Given the description of an element on the screen output the (x, y) to click on. 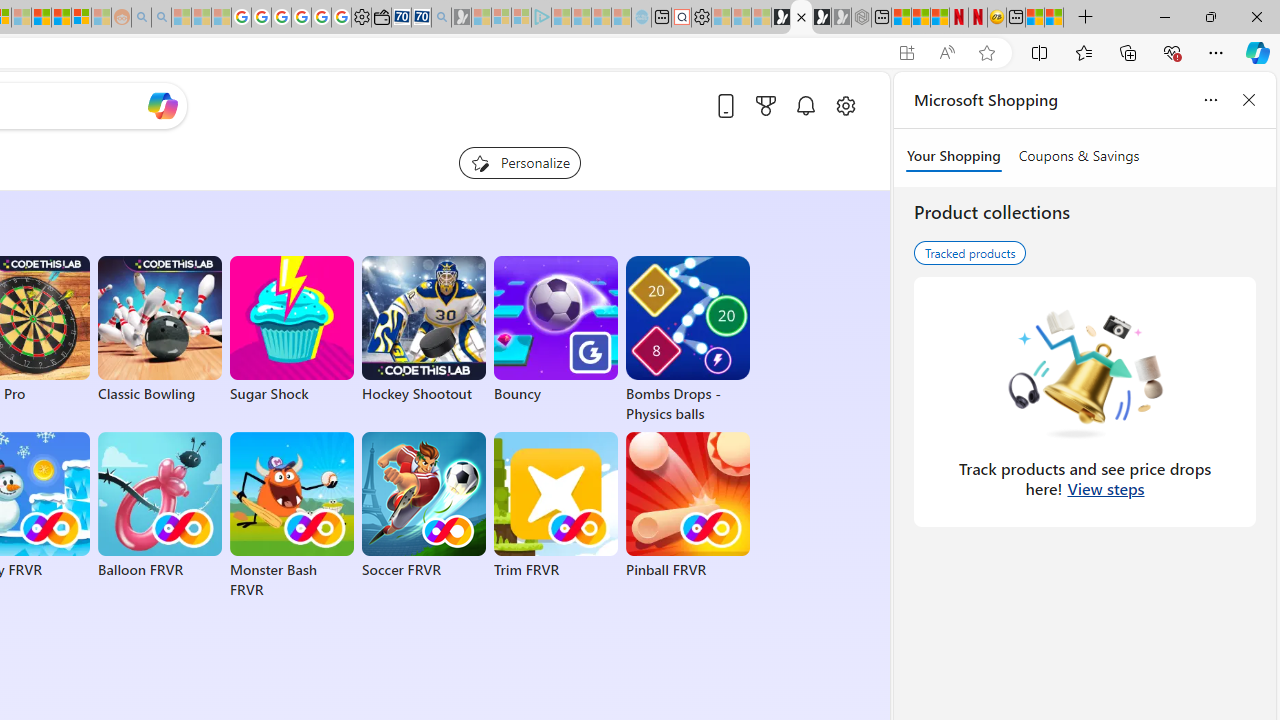
Classic Bowling (159, 329)
App available. Install Games from Microsoft Start (906, 53)
